Given the description of an element on the screen output the (x, y) to click on. 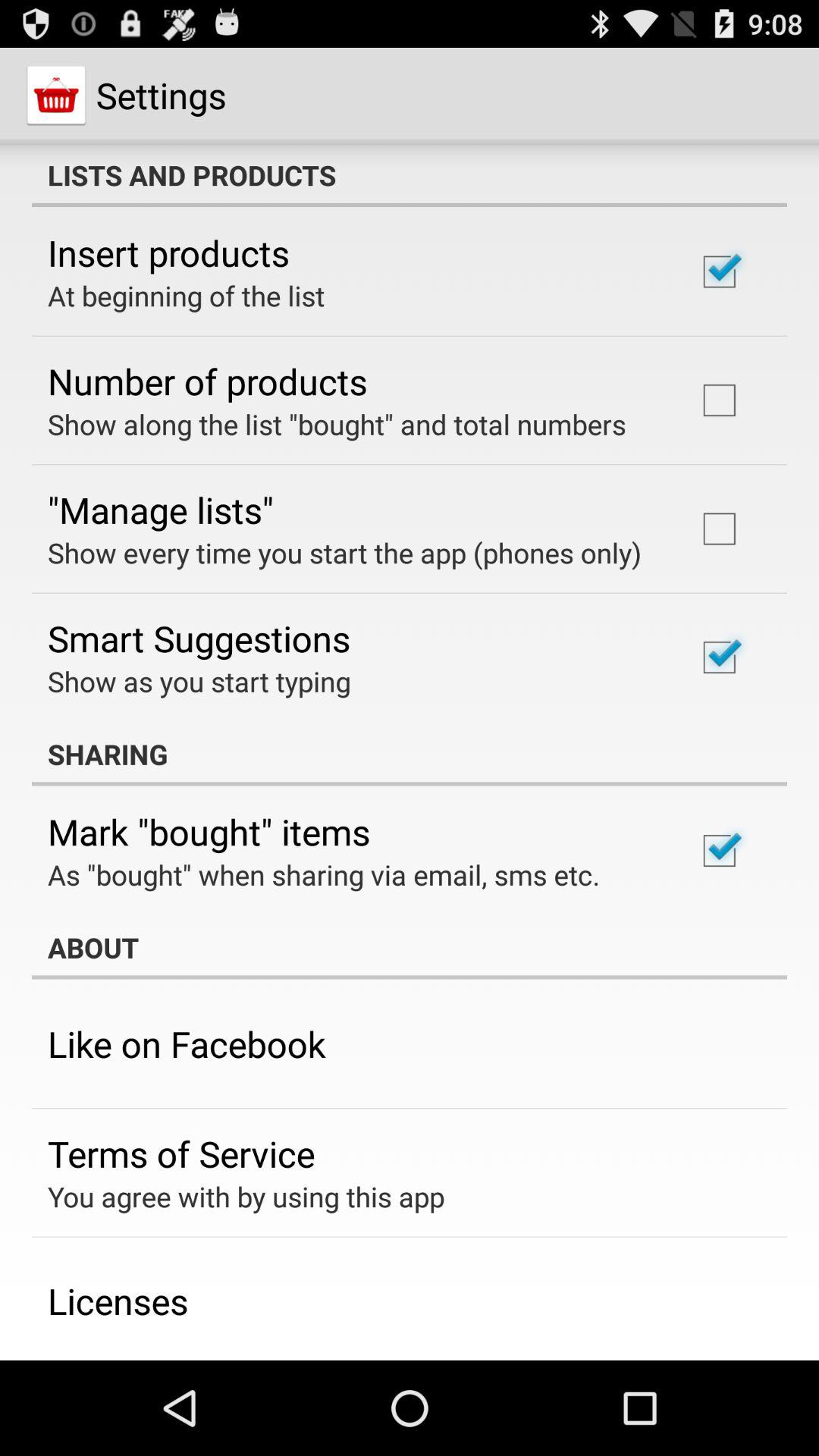
jump to the as bought when icon (323, 874)
